Given the description of an element on the screen output the (x, y) to click on. 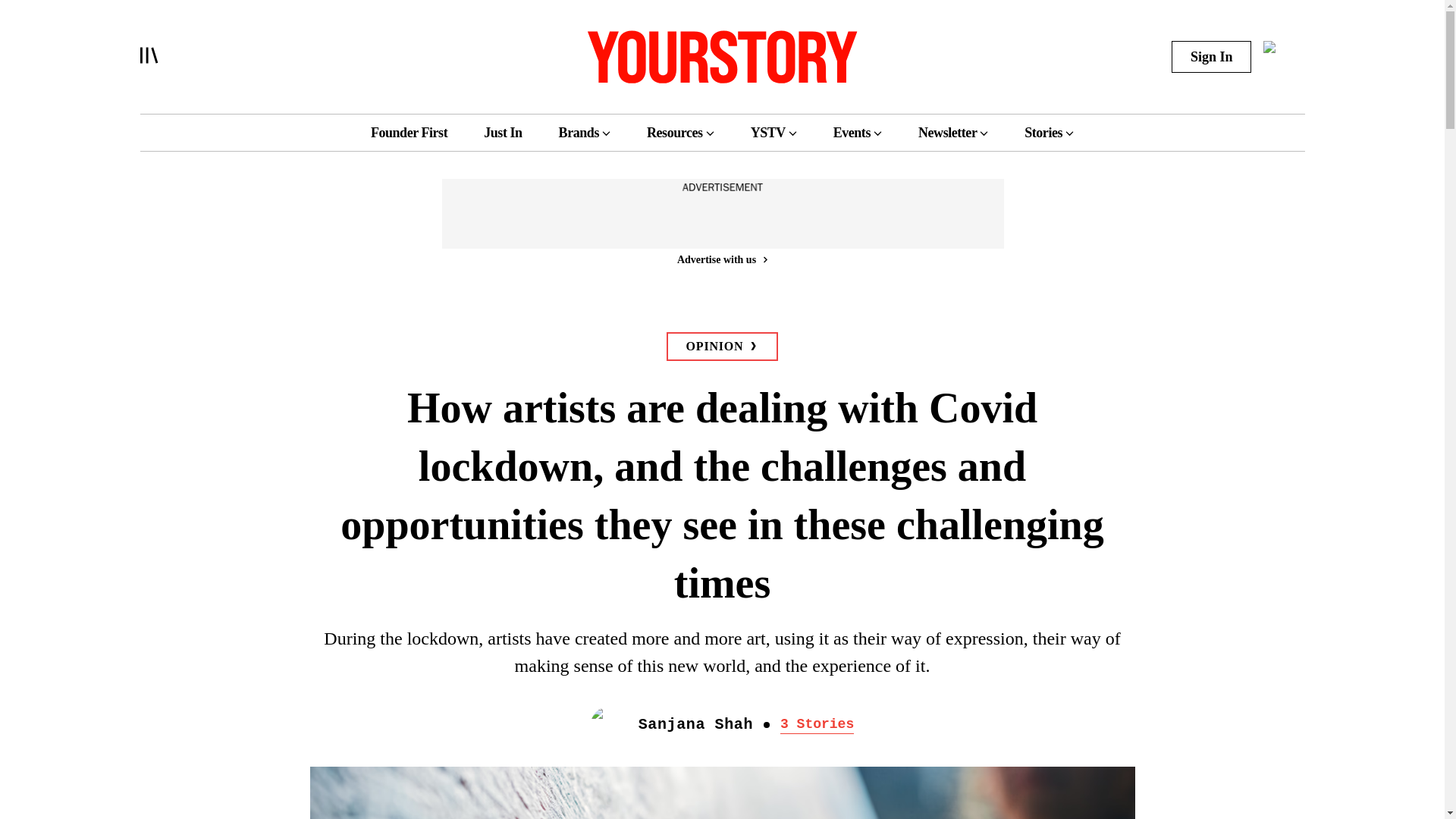
Sanjana Shah (695, 724)
Founder First (408, 132)
Advertise with us (721, 259)
OPINION (722, 346)
3 Stories (816, 724)
Just In (502, 132)
